Given the description of an element on the screen output the (x, y) to click on. 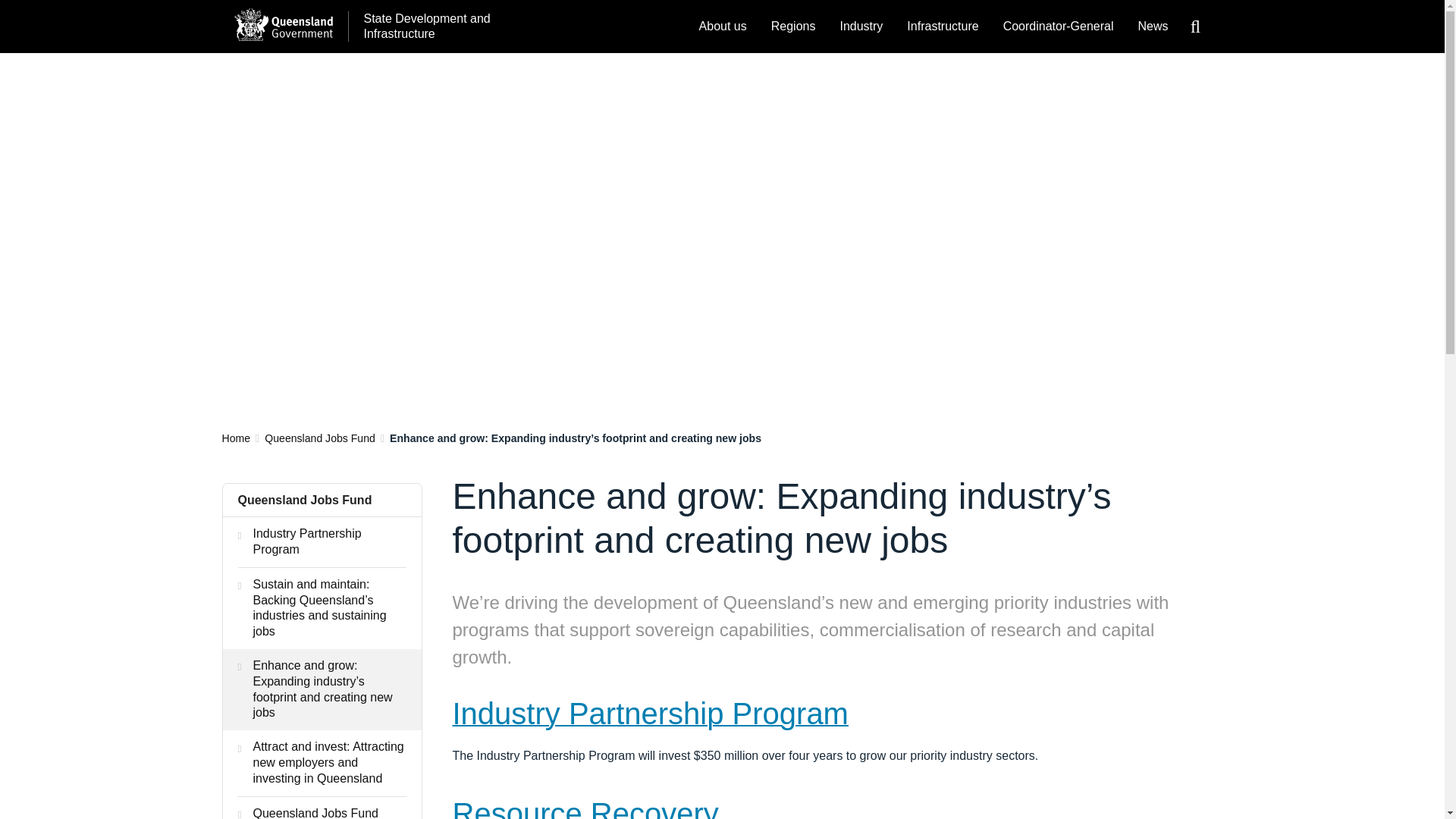
Regions (793, 26)
Industry (861, 26)
About us (722, 26)
Coordinator-General (1058, 26)
Infrastructure (942, 26)
Queensland Government (281, 24)
State Development and Infrastructure (423, 26)
